Given the description of an element on the screen output the (x, y) to click on. 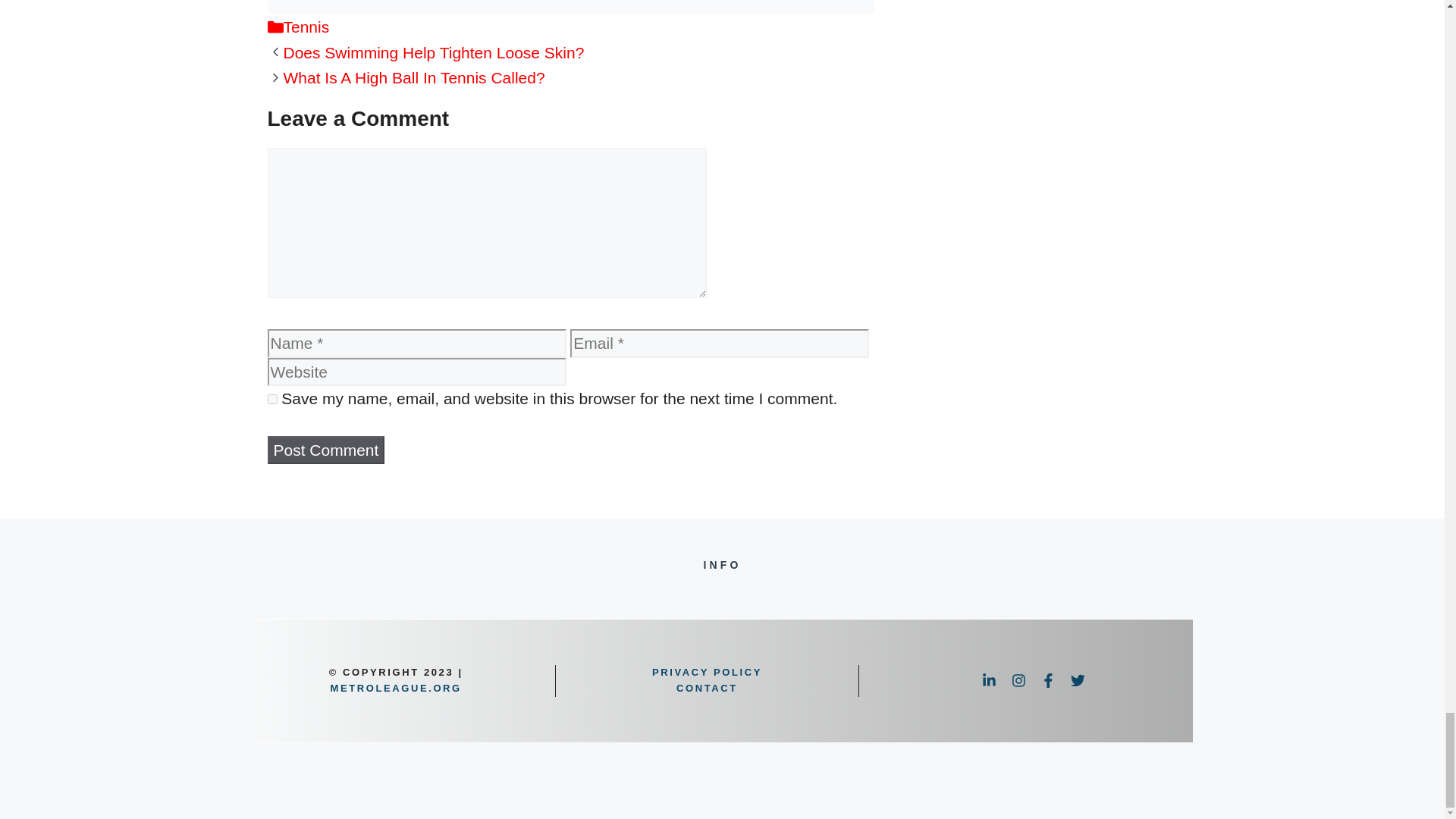
yes (271, 398)
Does Swimming Help Tighten Loose Skin? (434, 52)
Post Comment (325, 450)
Tennis (306, 27)
Categories (274, 27)
Post Comment (325, 450)
What Is A High Ball In Tennis Called? (413, 77)
